Given the description of an element on the screen output the (x, y) to click on. 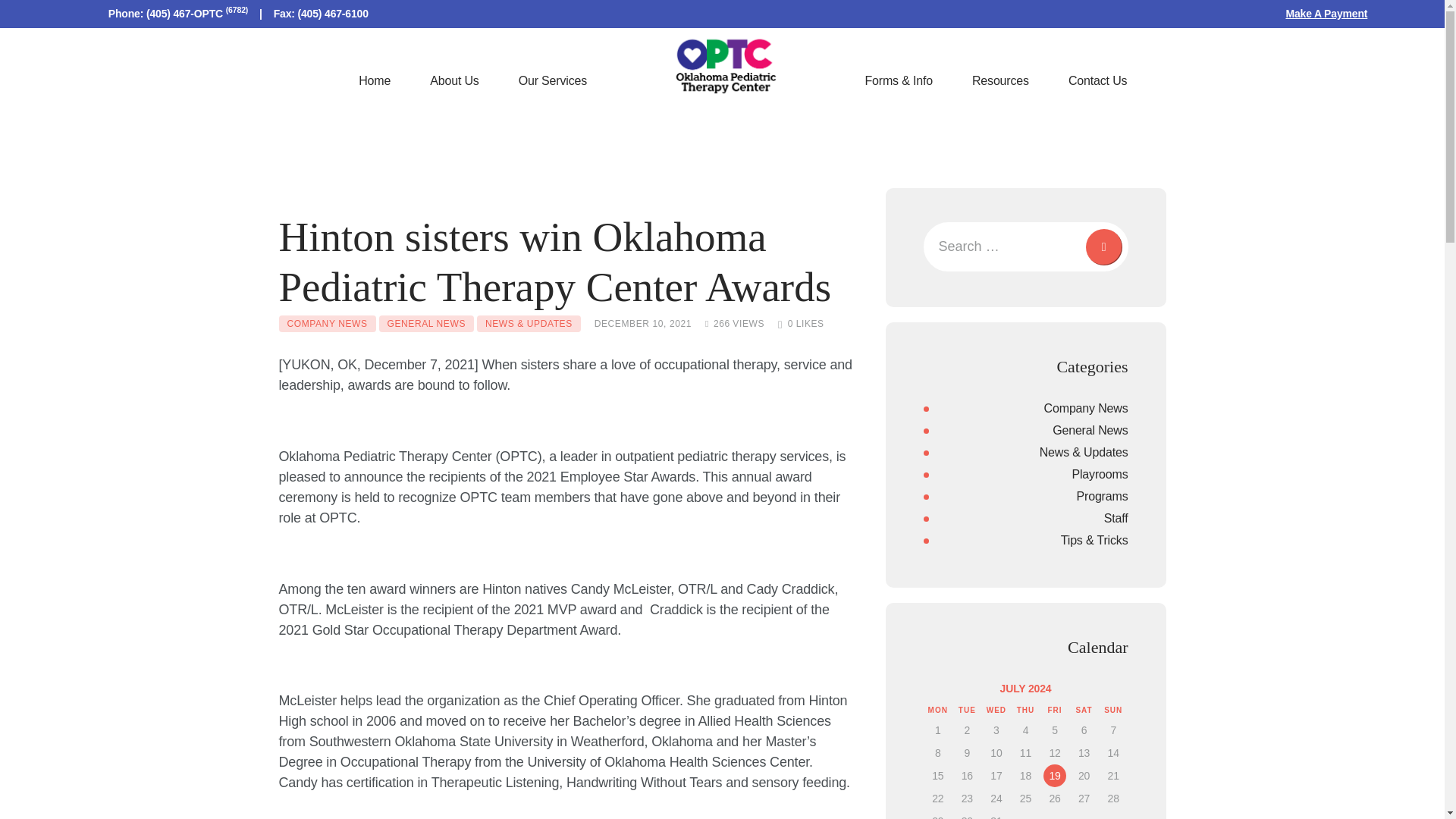
Like (800, 323)
Contact Us (1096, 80)
Our Services (552, 80)
Monday (938, 710)
Saturday (1083, 710)
Search (1101, 246)
Tuesday (966, 710)
Sunday (1113, 710)
Make A Payment (1326, 13)
Friday (1055, 710)
Home (374, 80)
Thursday (1025, 710)
About Us (454, 80)
Resources (999, 80)
Search (1101, 246)
